Given the description of an element on the screen output the (x, y) to click on. 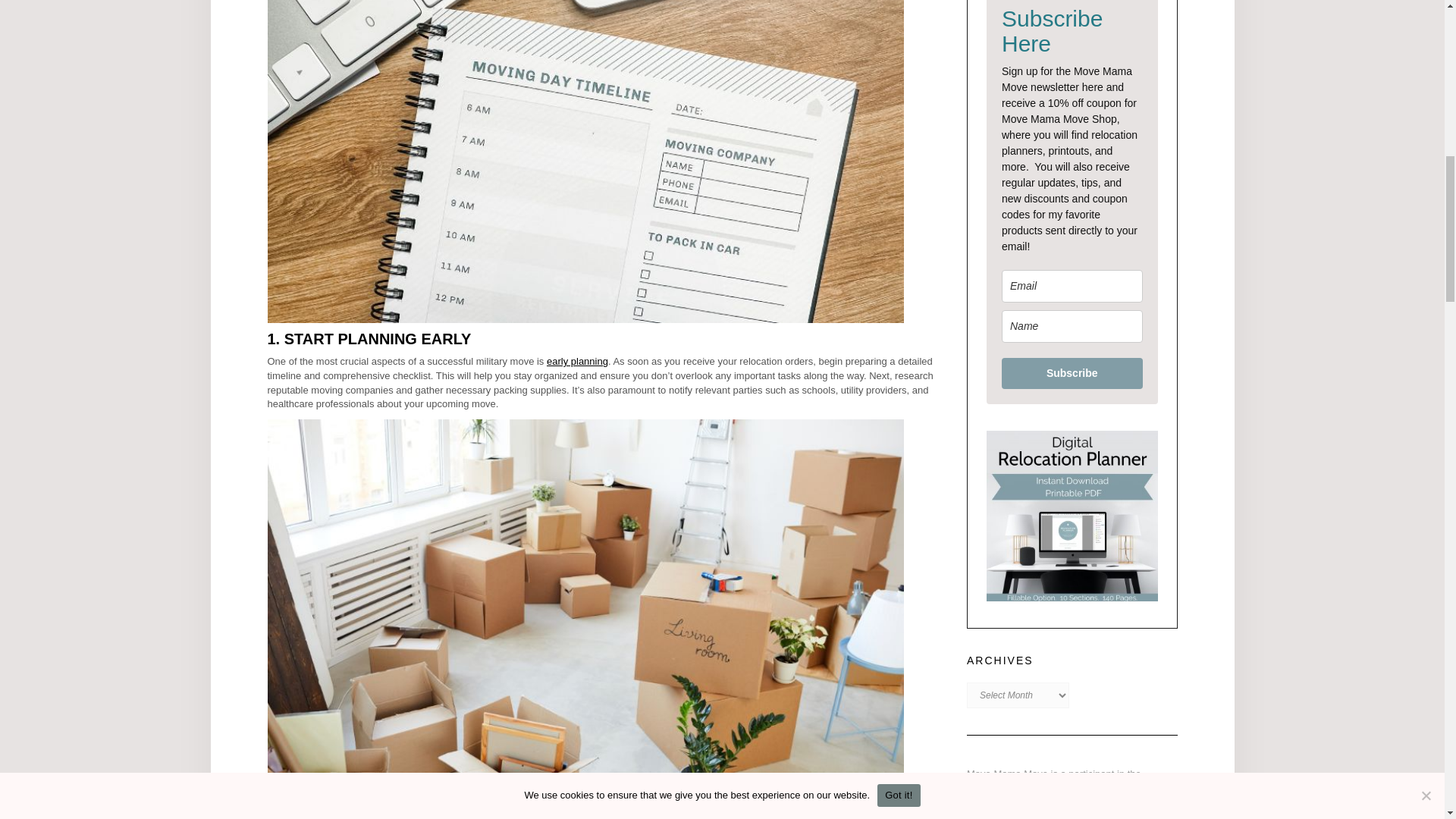
early planning (577, 360)
Subscribe (1071, 373)
